Given the description of an element on the screen output the (x, y) to click on. 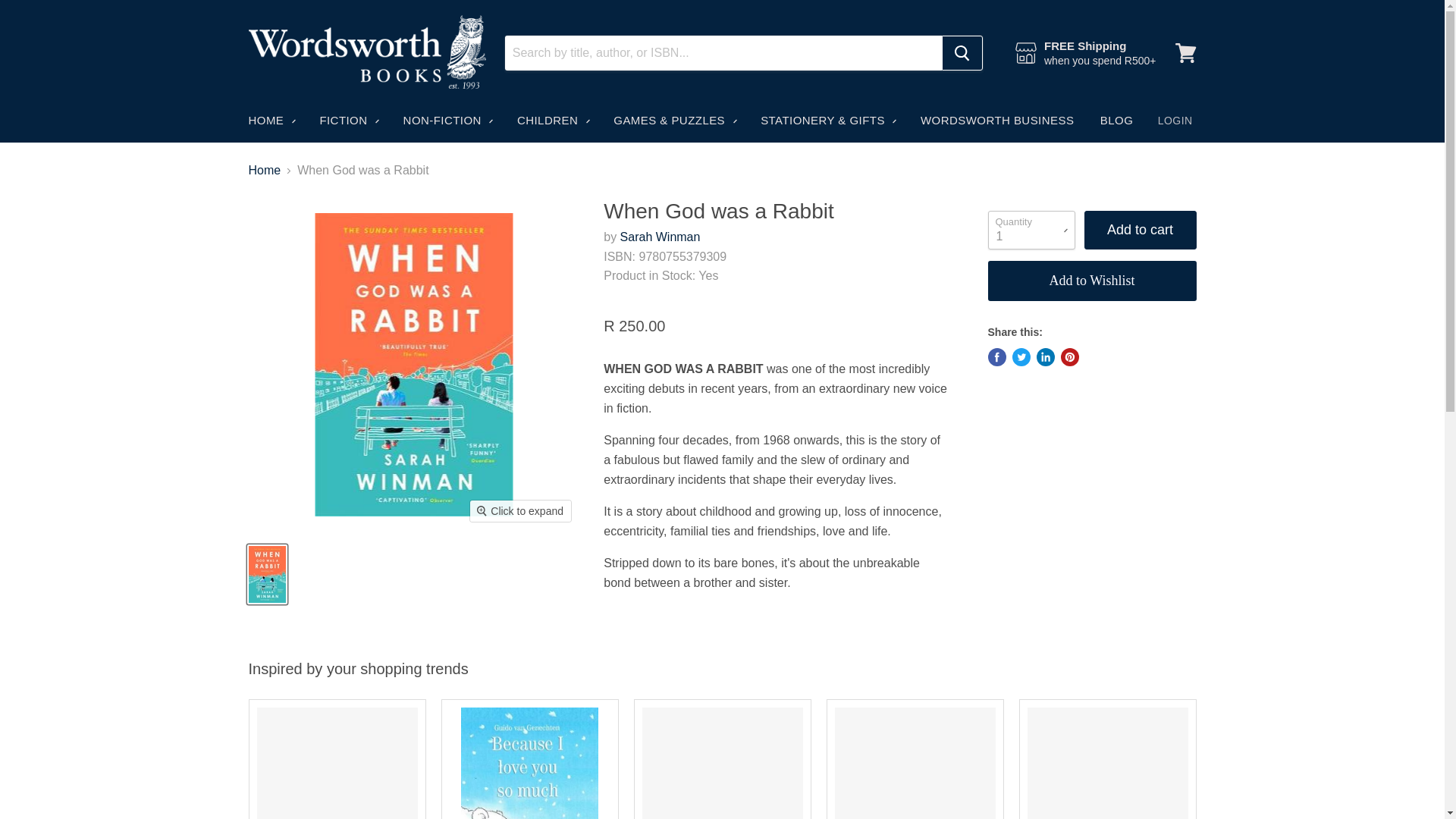
Sarah Winman (660, 236)
View cart (1185, 53)
FICTION (347, 120)
HOME (269, 120)
